Given the description of an element on the screen output the (x, y) to click on. 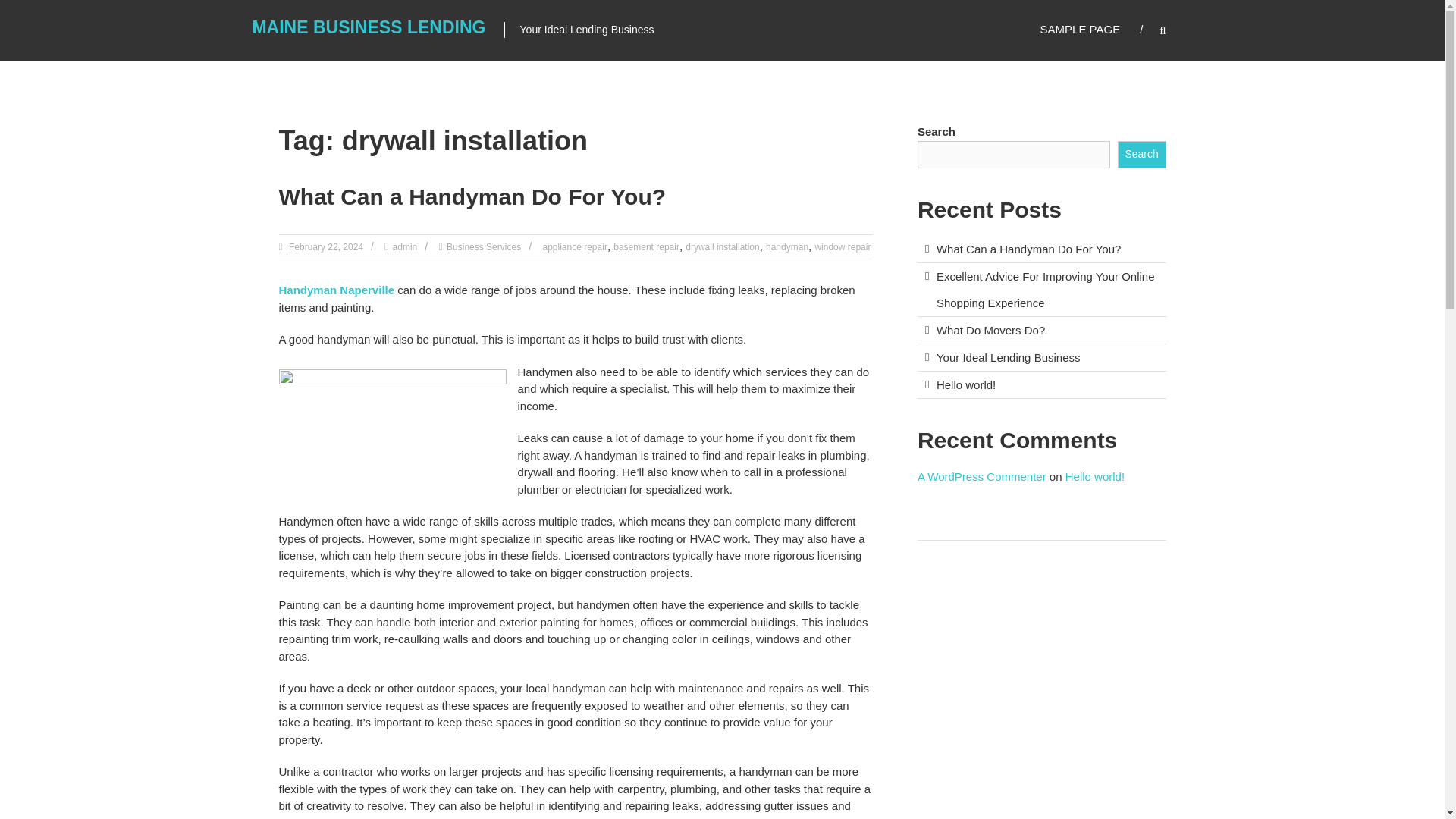
MAINE BUSINESS LENDING (367, 26)
Business Services (483, 246)
appliance repair (574, 246)
Hello world! (965, 384)
February 22, 2024 (324, 246)
What Can a Handyman Do For You? (472, 196)
Hello world! (1094, 476)
9:36 am (324, 246)
Your Ideal Lending Business (1008, 357)
What Can a Handyman Do For You? (1028, 248)
What Do Movers Do? (990, 329)
basement repair (645, 246)
drywall installation (721, 246)
Maine Business Lending (367, 26)
